Given the description of an element on the screen output the (x, y) to click on. 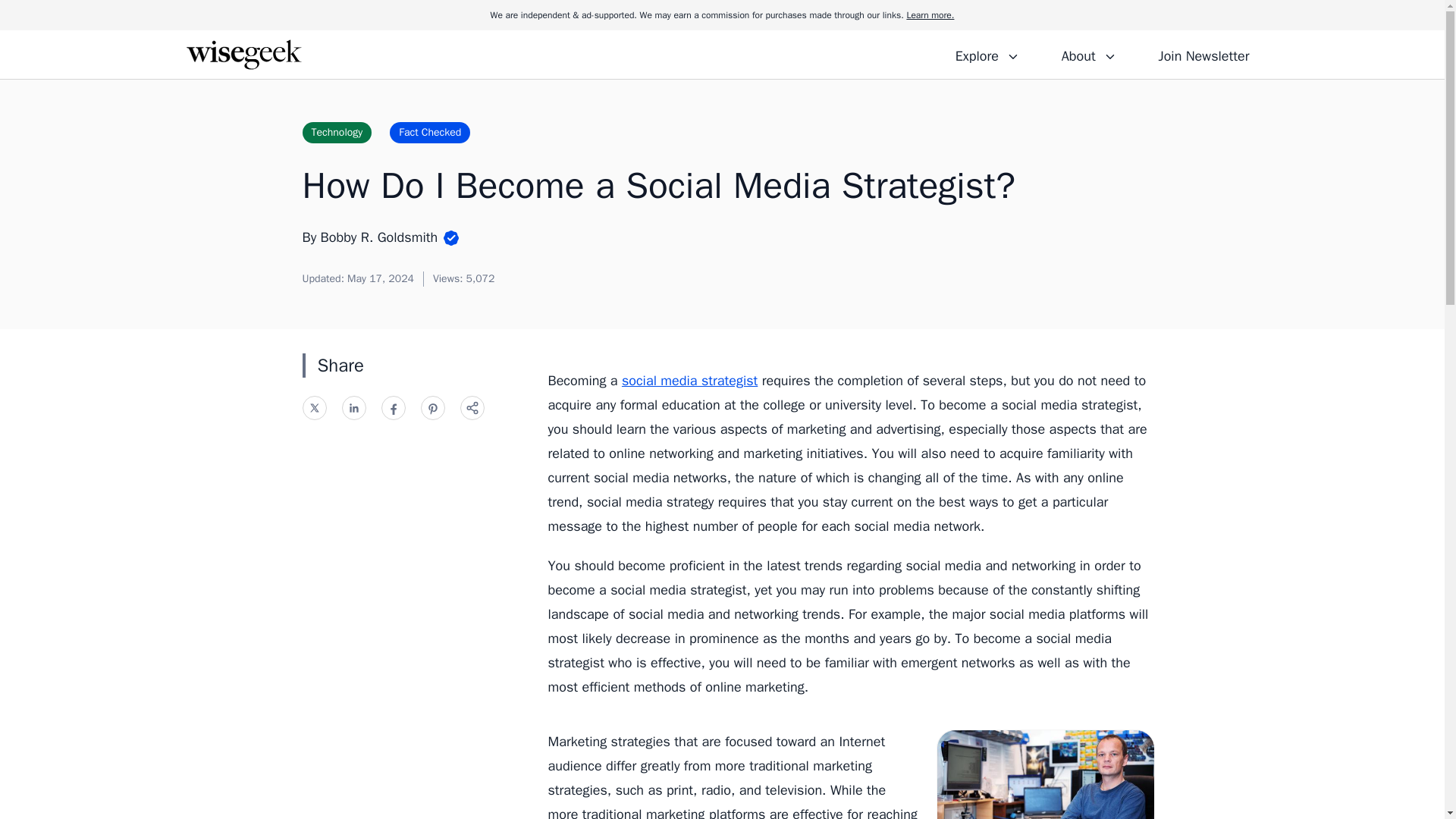
Technology (336, 132)
social media strategist (689, 380)
Fact Checked (430, 132)
Learn more. (929, 15)
About (1088, 54)
Join Newsletter (1202, 54)
Explore (986, 54)
